Given the description of an element on the screen output the (x, y) to click on. 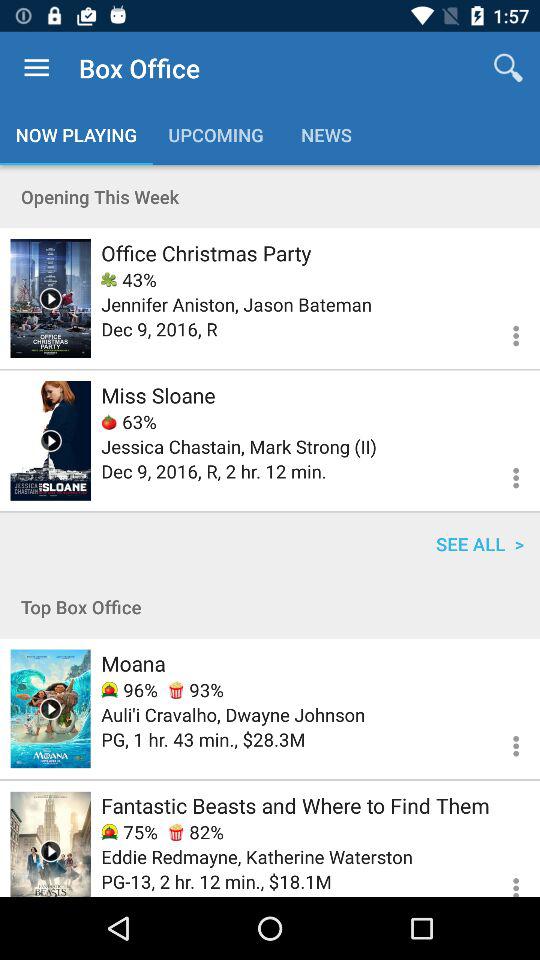
options (503, 332)
